Given the description of an element on the screen output the (x, y) to click on. 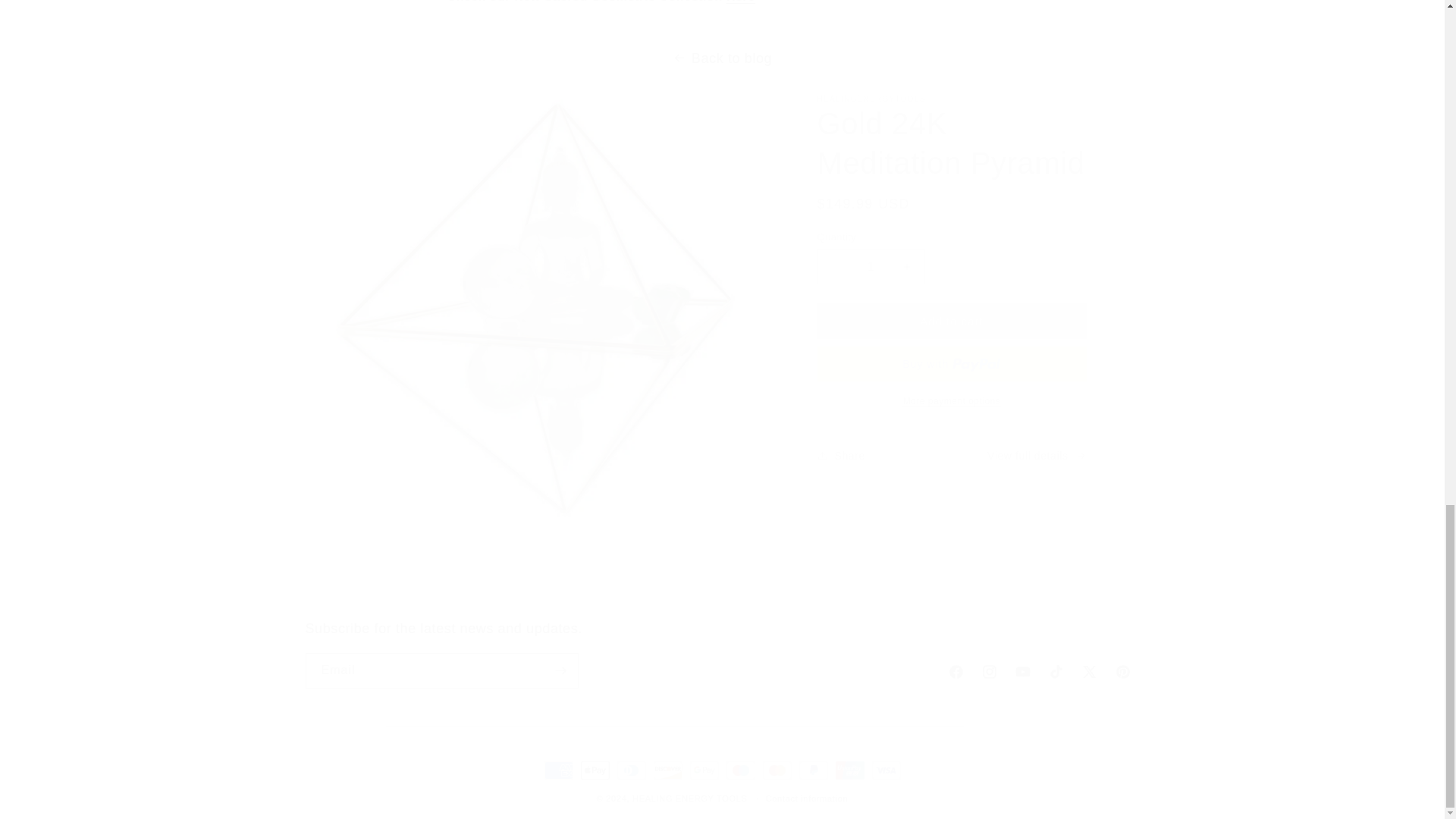
1 (870, 266)
